Given the description of an element on the screen output the (x, y) to click on. 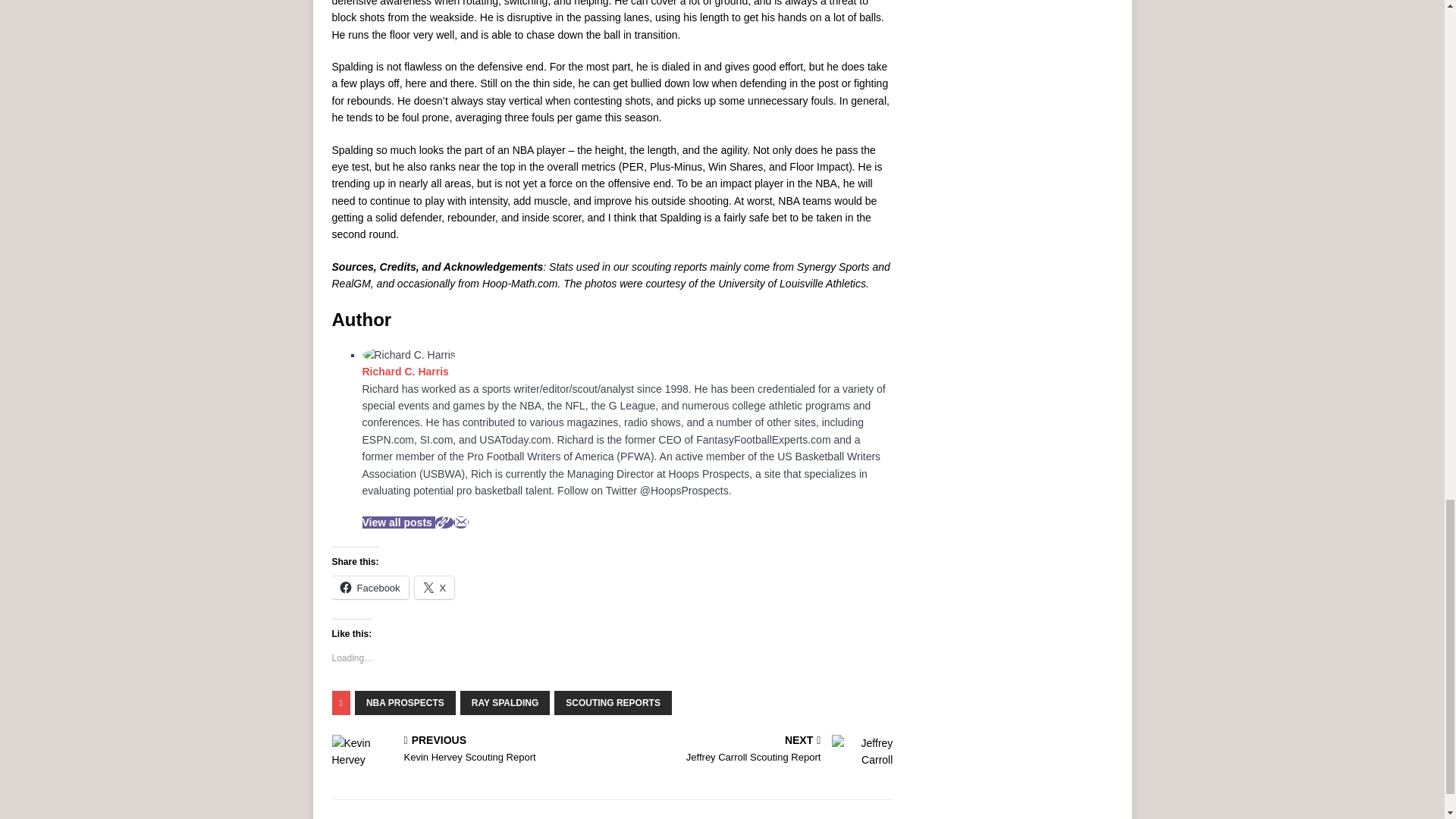
Click to share on X (434, 587)
Click to share on Facebook (370, 587)
View all posts (398, 522)
Richard C. Harris (405, 371)
